Given the description of an element on the screen output the (x, y) to click on. 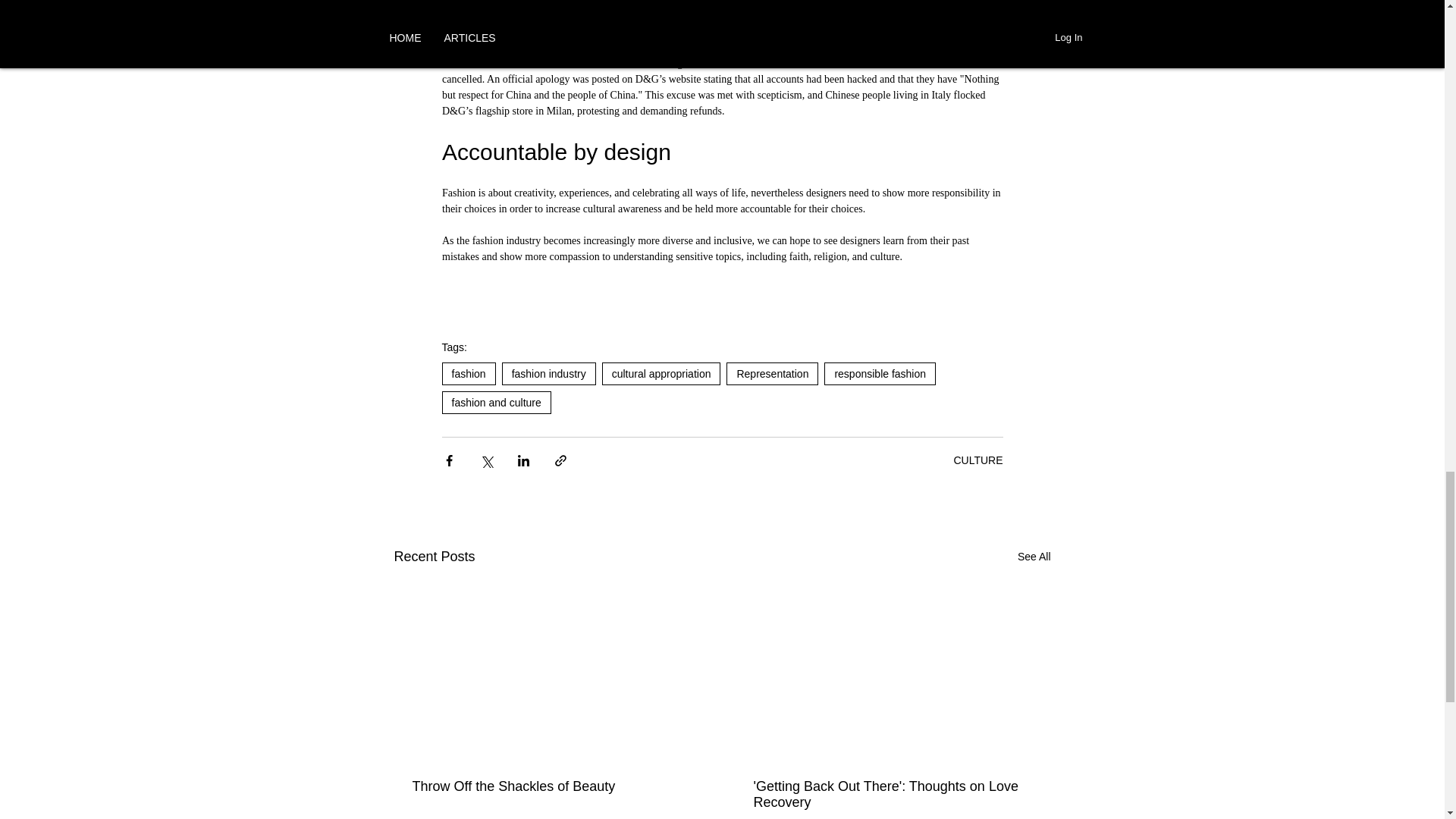
fashion (468, 373)
responsible fashion (880, 373)
cultural appropriation (661, 373)
CULTURE (978, 459)
Representation (772, 373)
fashion and culture (495, 402)
'Getting Back Out There': Thoughts on Love Recovery (893, 794)
Throw Off the Shackles of Beauty (551, 786)
See All (1034, 557)
fashion industry (548, 373)
